Given the description of an element on the screen output the (x, y) to click on. 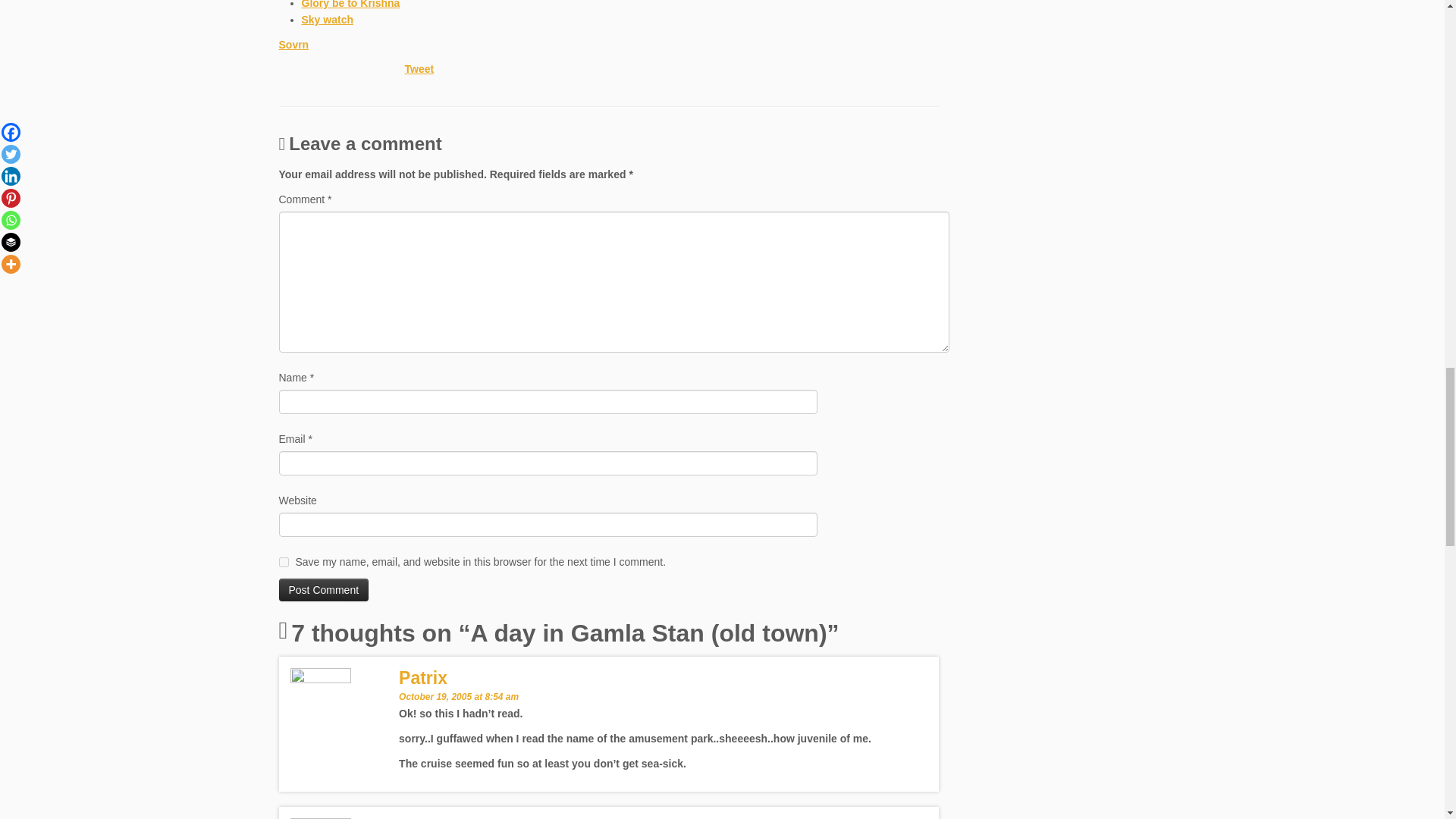
yes (283, 562)
Post Comment (324, 589)
